Given the description of an element on the screen output the (x, y) to click on. 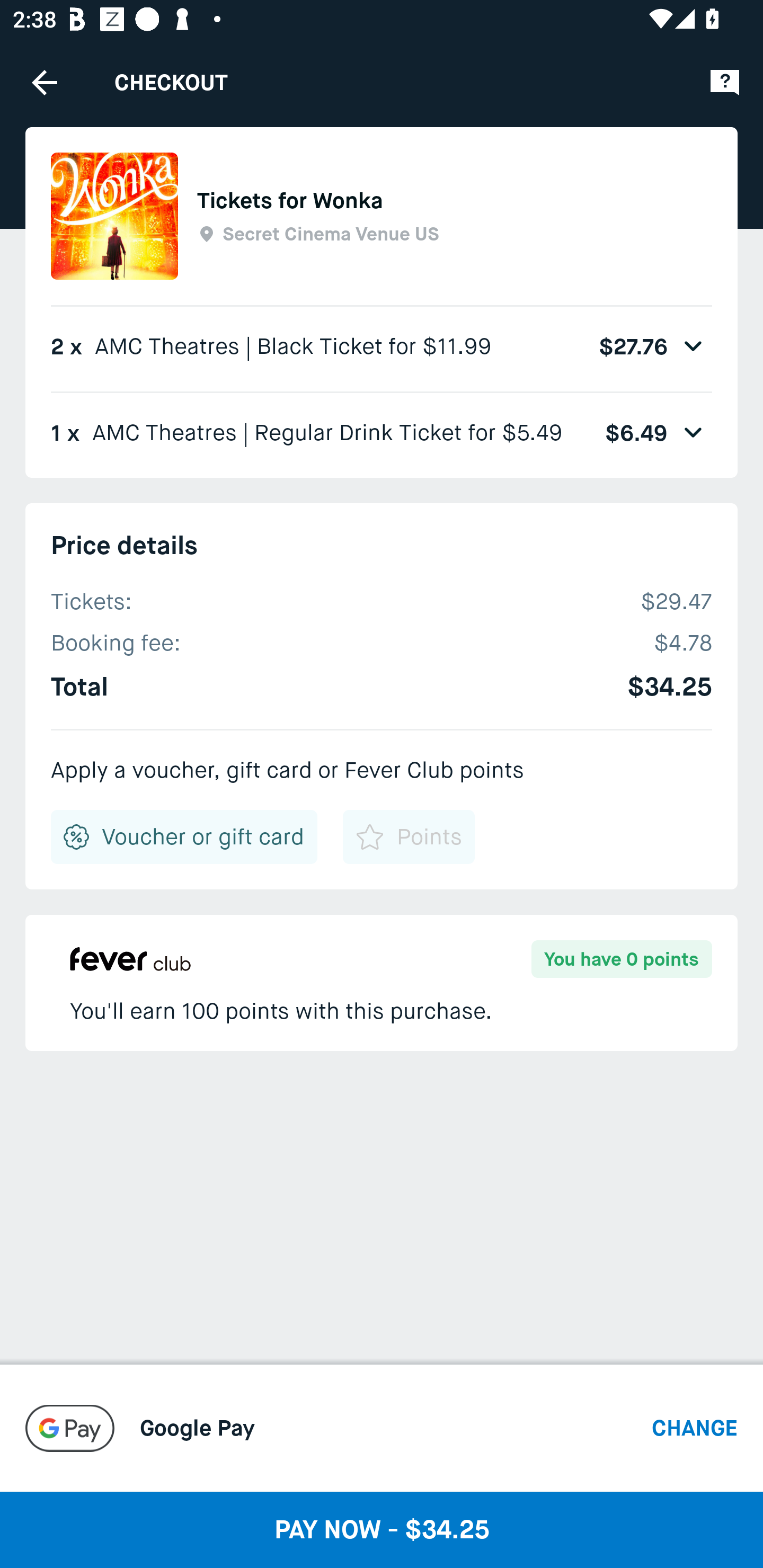
Navigate up (44, 82)
Help (724, 81)
Voucher or gift card (184, 836)
Points (408, 836)
CHANGE (694, 1427)
PAY NOW - $34.25 (381, 1529)
